Given the description of an element on the screen output the (x, y) to click on. 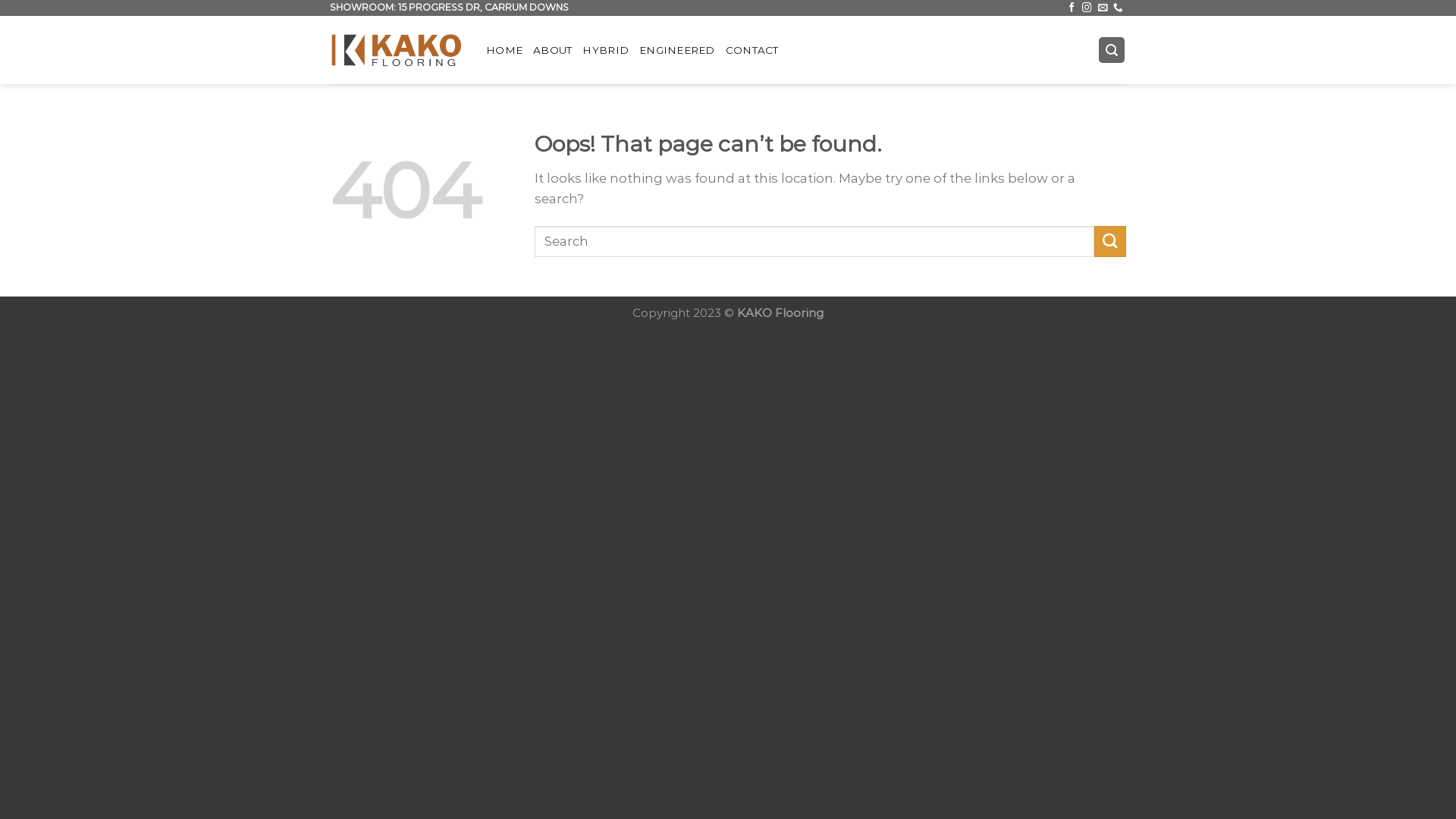
CONTACT Element type: text (751, 49)
Follow on Instagram Element type: hover (1087, 8)
HOME Element type: text (504, 49)
ABOUT Element type: text (552, 49)
Follow on Facebook Element type: hover (1071, 8)
ENGINEERED Element type: text (677, 49)
KAKO Flooring - Melbourne Flooring Specialists Element type: hover (396, 49)
Send us an email Element type: hover (1102, 8)
Call us Element type: hover (1118, 8)
HYBRID Element type: text (605, 49)
